Given the description of an element on the screen output the (x, y) to click on. 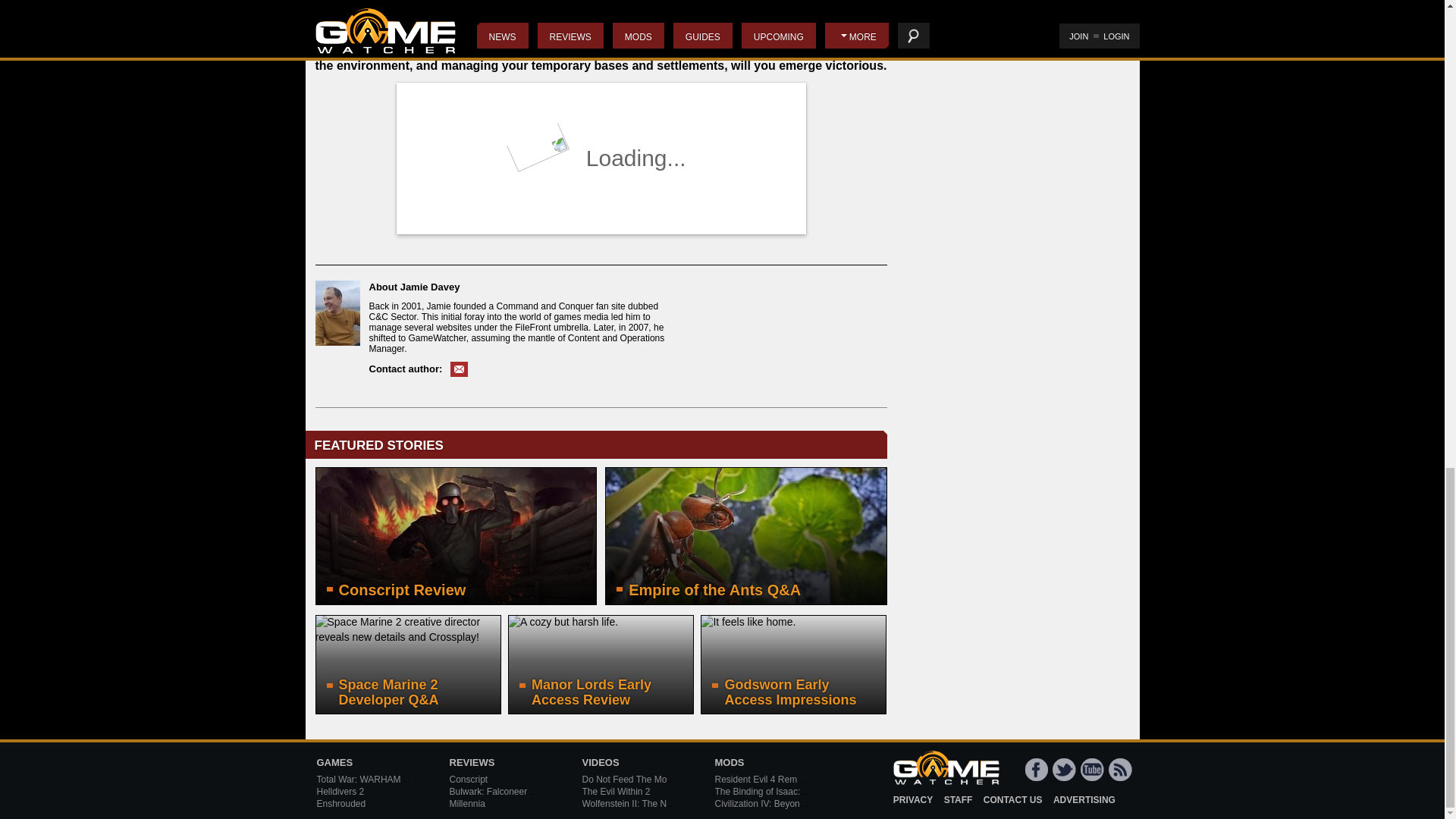
Conscript Review (455, 535)
Manor Lords Early Access Review (601, 664)
Godsworn Early Access Impressions (793, 664)
